Given the description of an element on the screen output the (x, y) to click on. 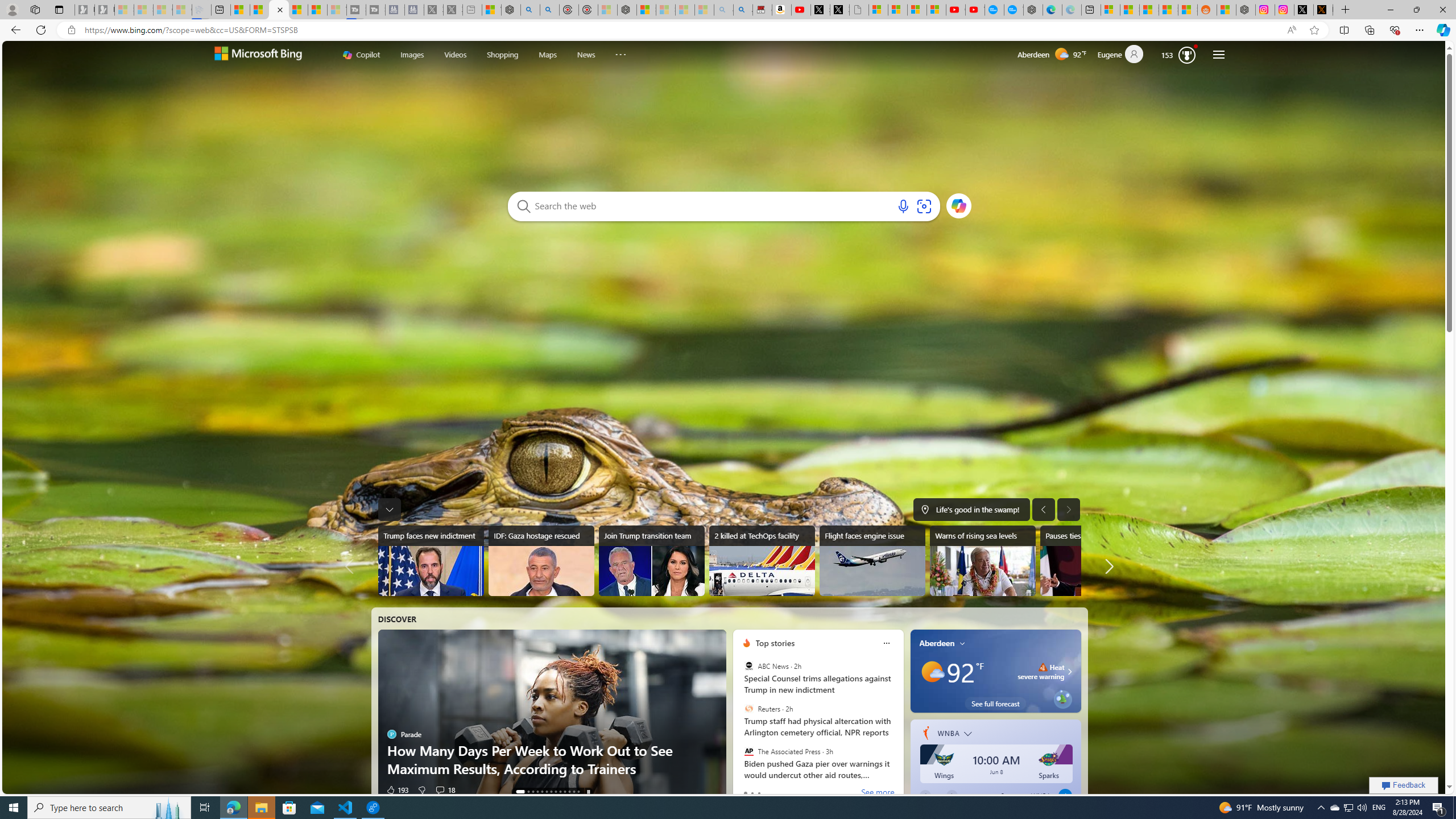
YouTube Kids - An App Created for Kids to Explore Content (975, 9)
AutomationID: tab-9 (564, 791)
Maps (547, 54)
New tab - Sleeping (471, 9)
Amazon Echo Dot PNG - Search Images (742, 9)
Videos (455, 54)
AutomationID: tab-1 (524, 791)
Next (952, 795)
Dislike (418, 789)
Nordace - Summer Adventures 2024 (1245, 9)
Search using an image (923, 205)
